Given the description of an element on the screen output the (x, y) to click on. 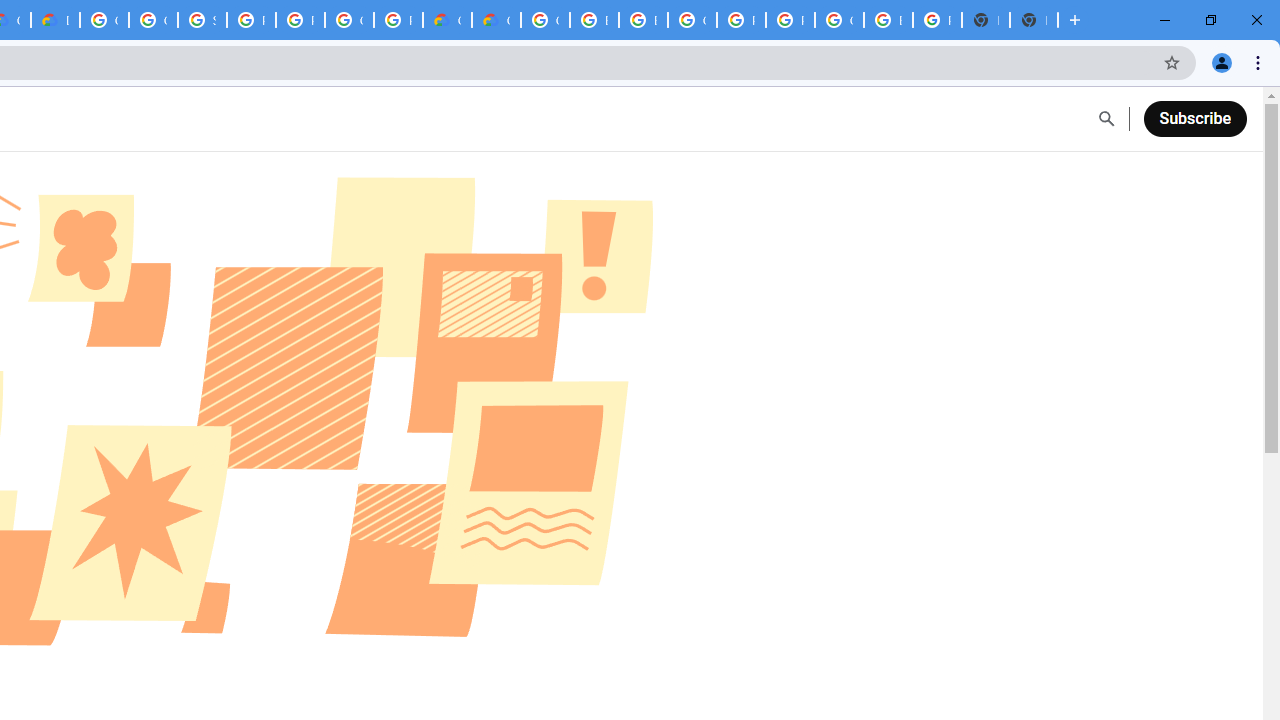
Google Cloud Platform (839, 20)
Google Cloud Platform (545, 20)
Browse Chrome as a guest - Computer - Google Chrome Help (643, 20)
Open Search (1106, 119)
Google Cloud Platform (104, 20)
Google Cloud Platform (349, 20)
Browse Chrome as a guest - Computer - Google Chrome Help (594, 20)
